Given the description of an element on the screen output the (x, y) to click on. 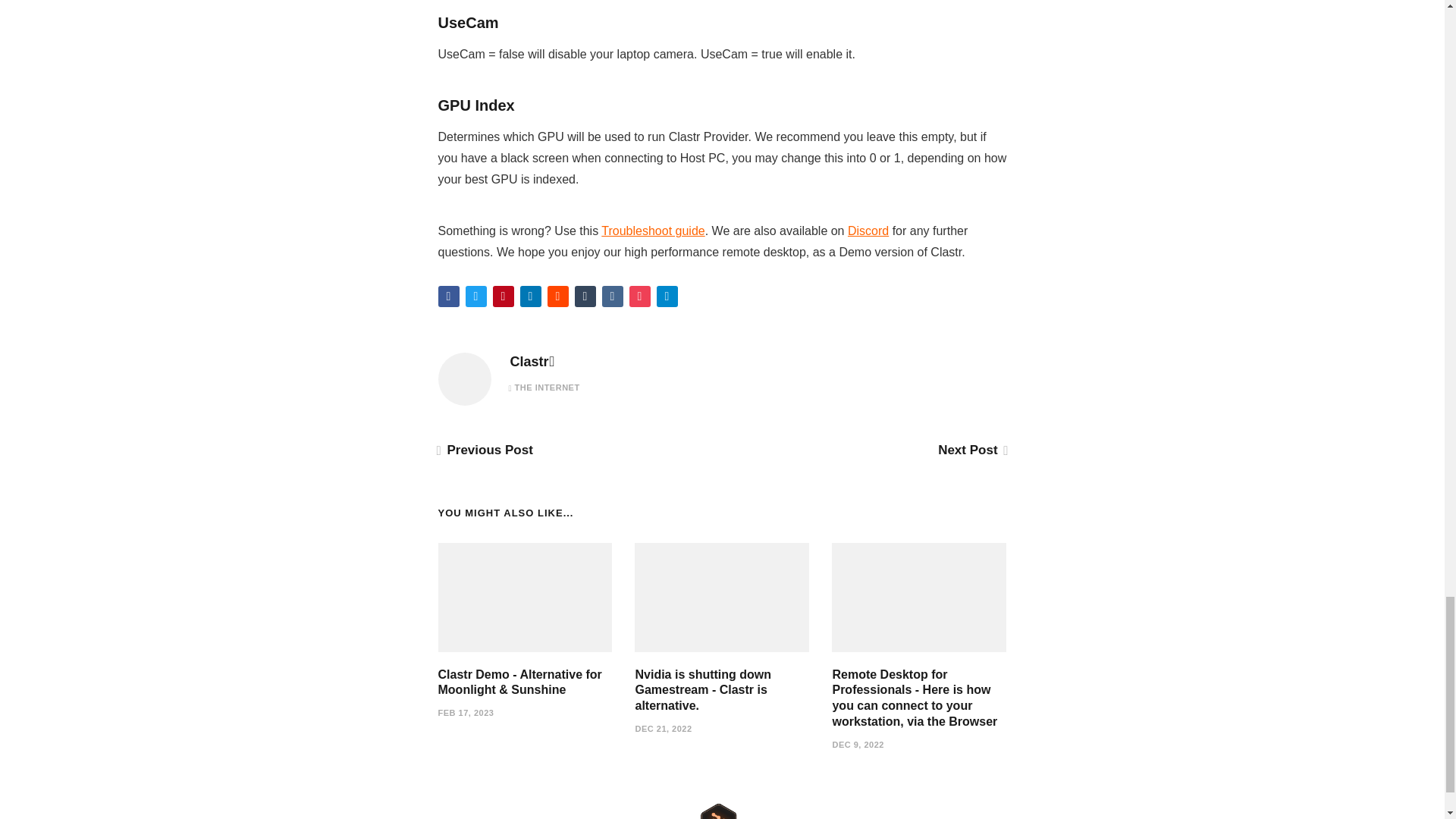
Discord (867, 230)
Nvidia is shutting down Gamestream - Clastr is alternative. (702, 690)
Previous Post (485, 450)
Next Post (971, 450)
Troubleshoot guide (652, 230)
